Given the description of an element on the screen output the (x, y) to click on. 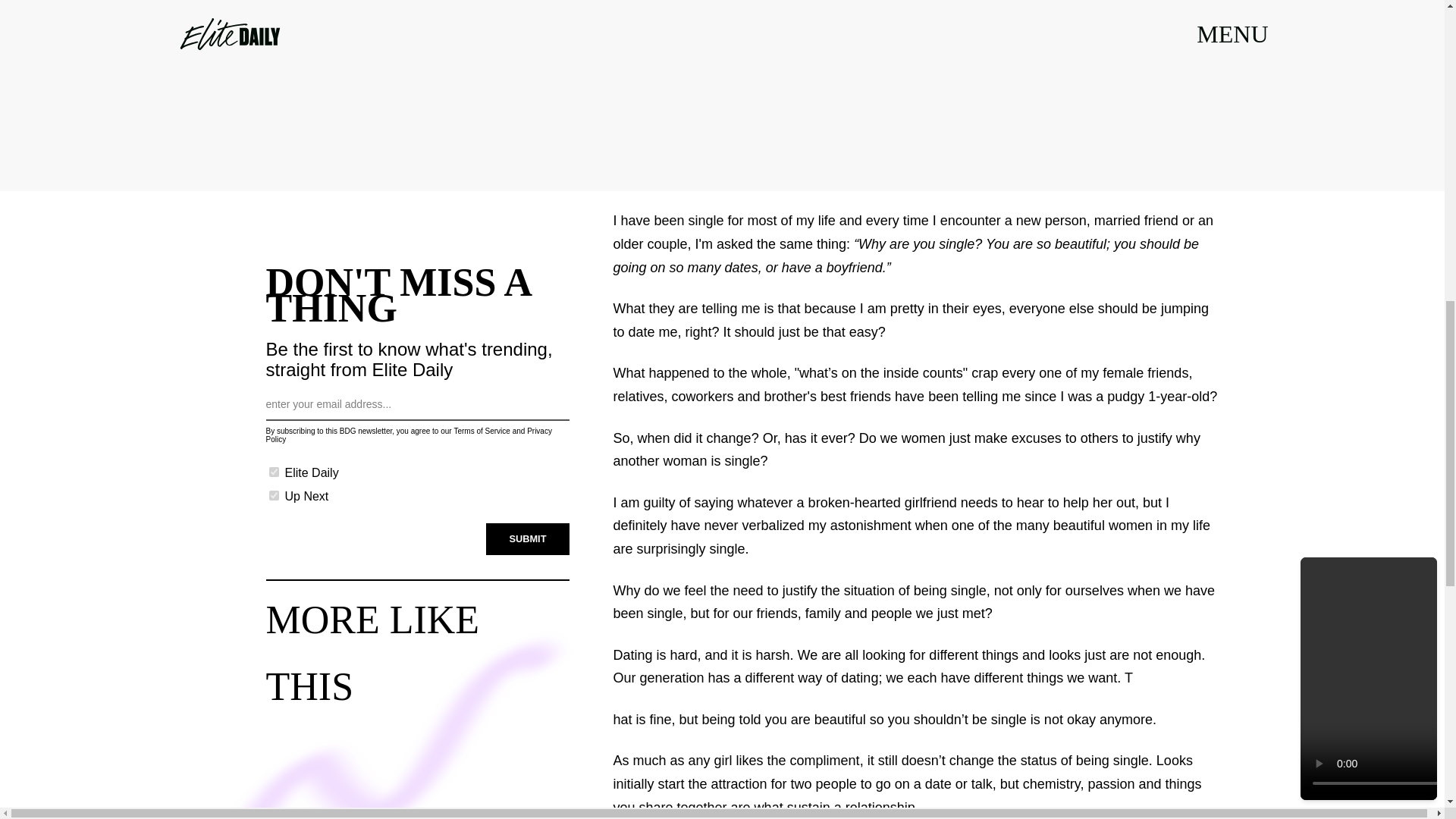
Terms of Service (480, 429)
SUBMIT (527, 536)
Privacy Policy (407, 434)
